Given the description of an element on the screen output the (x, y) to click on. 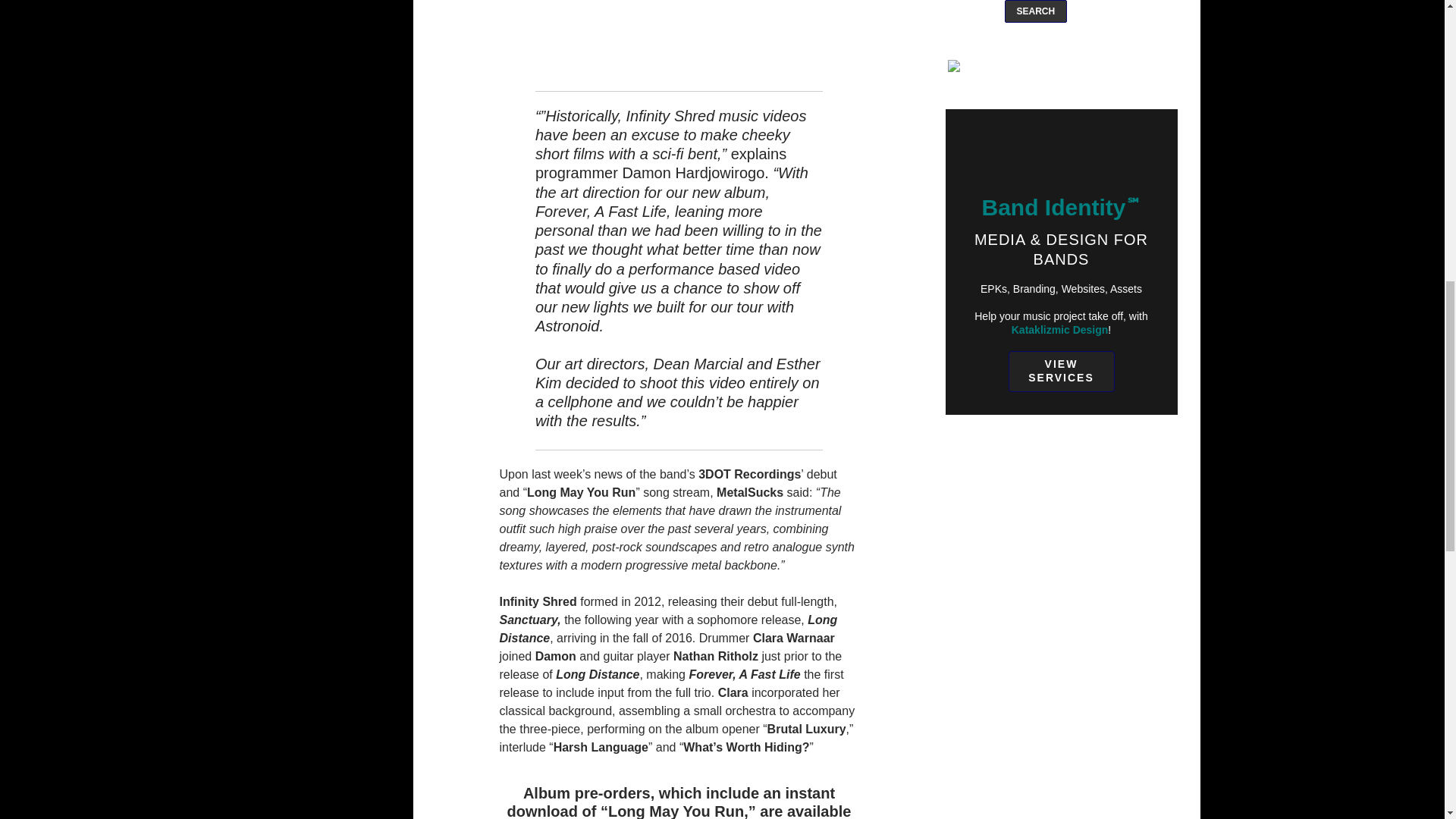
Search (1035, 11)
Search (1035, 11)
